Given the description of an element on the screen output the (x, y) to click on. 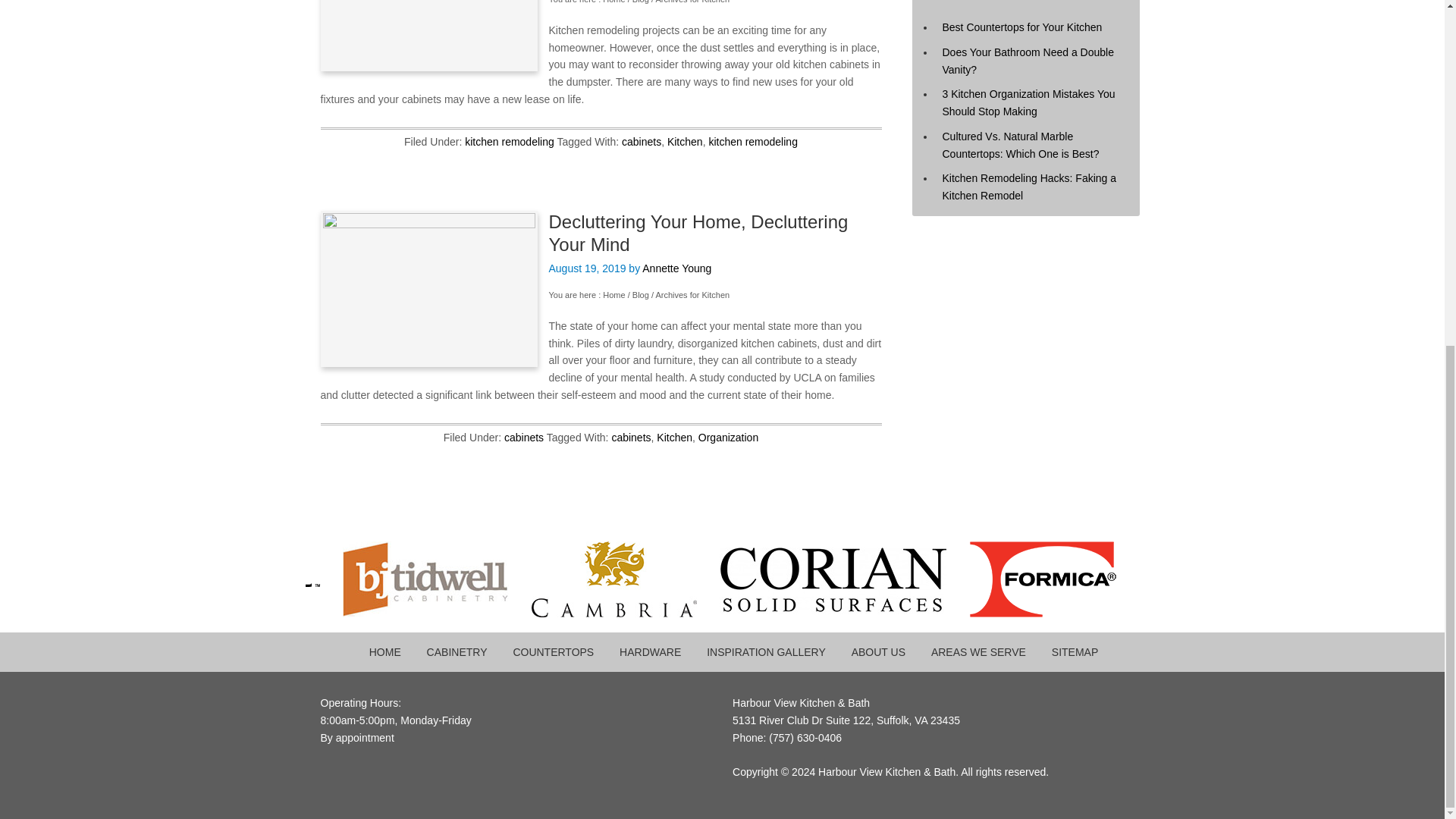
Cambria (625, 613)
Corian (844, 613)
Publishing (428, 35)
Berenson (259, 613)
cabinets (641, 141)
You are here : Home (587, 2)
file.jpg (428, 288)
Formica (1053, 613)
Blog (640, 2)
kitchen remodeling (509, 141)
BJ Tidwell (436, 613)
